Given the description of an element on the screen output the (x, y) to click on. 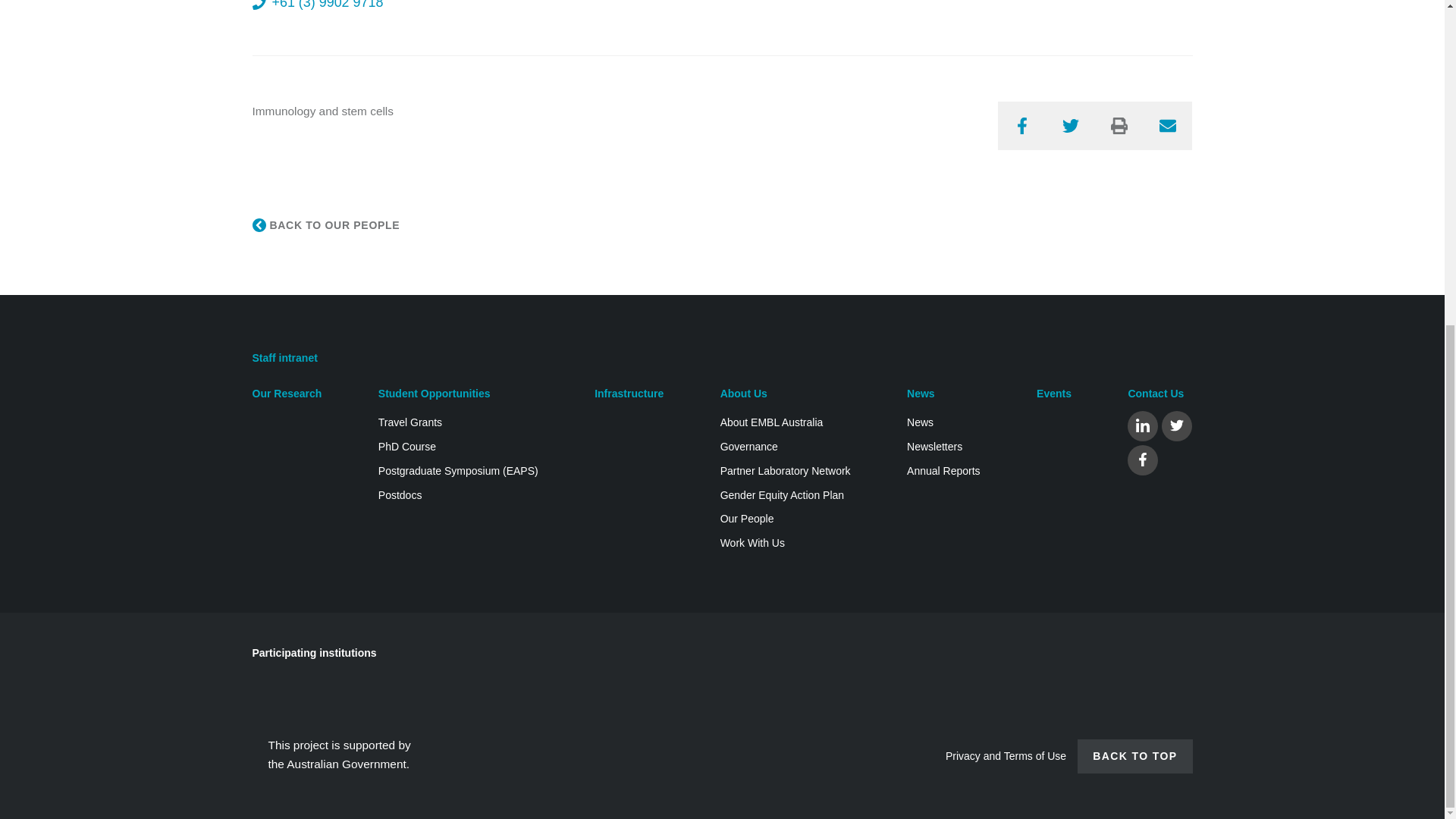
Twitter (1070, 125)
Facebook (1021, 125)
